Given the description of an element on the screen output the (x, y) to click on. 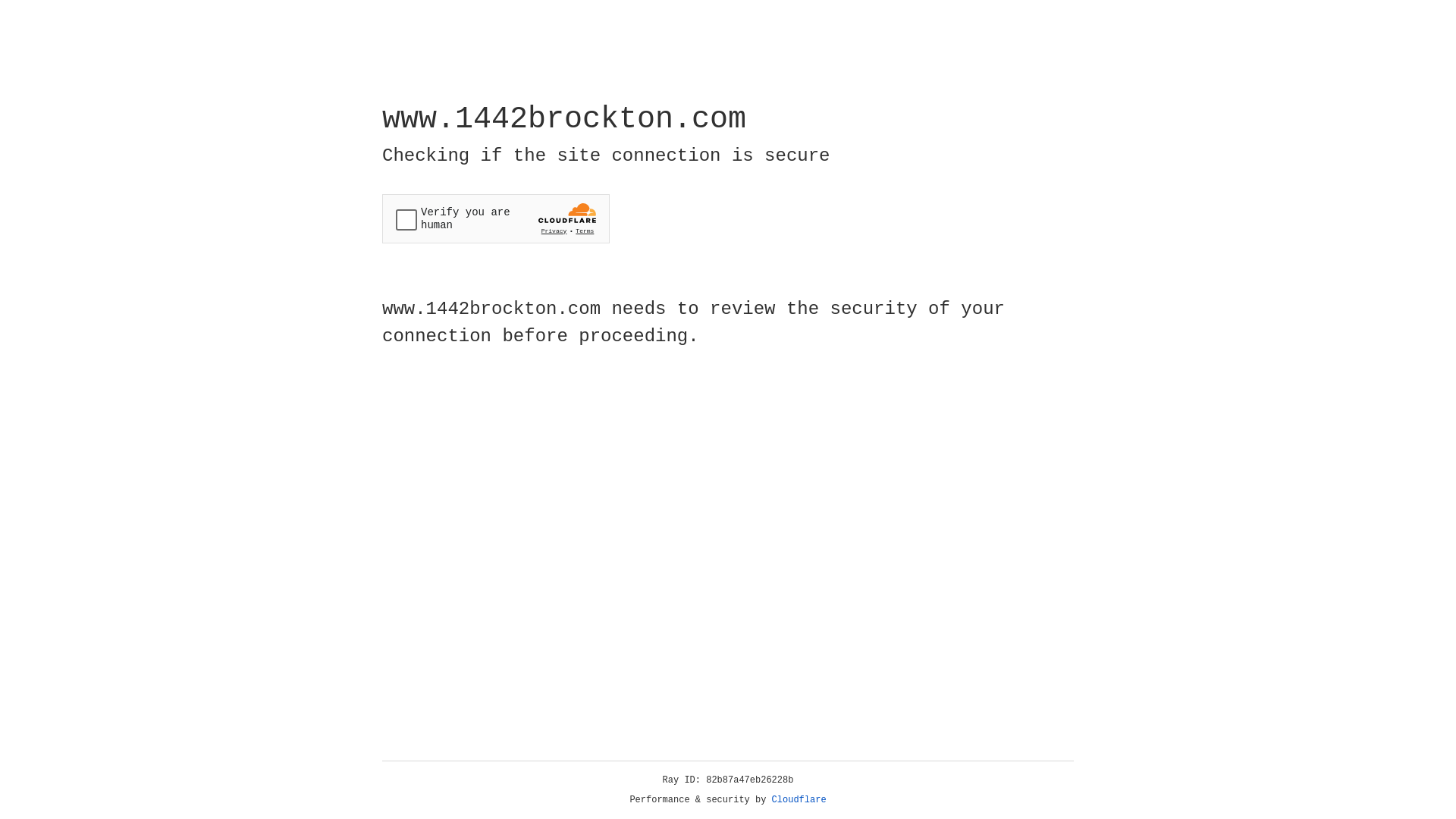
Cloudflare Element type: text (798, 799)
Widget containing a Cloudflare security challenge Element type: hover (495, 218)
